Given the description of an element on the screen output the (x, y) to click on. 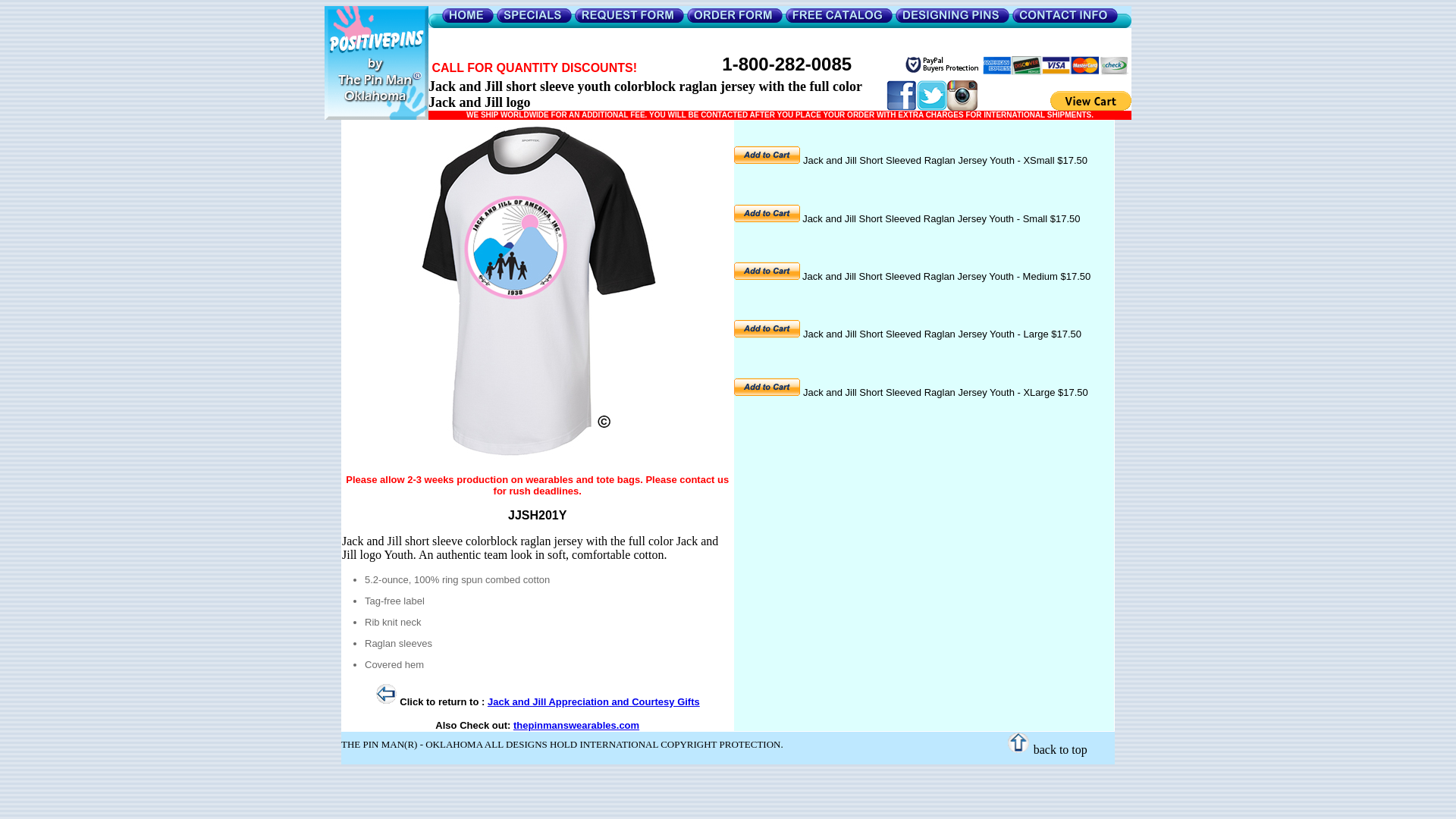
thepinmanswearables.com (576, 725)
Jack and Jill Appreciation and Courtesy Gifts (593, 701)
